Given the description of an element on the screen output the (x, y) to click on. 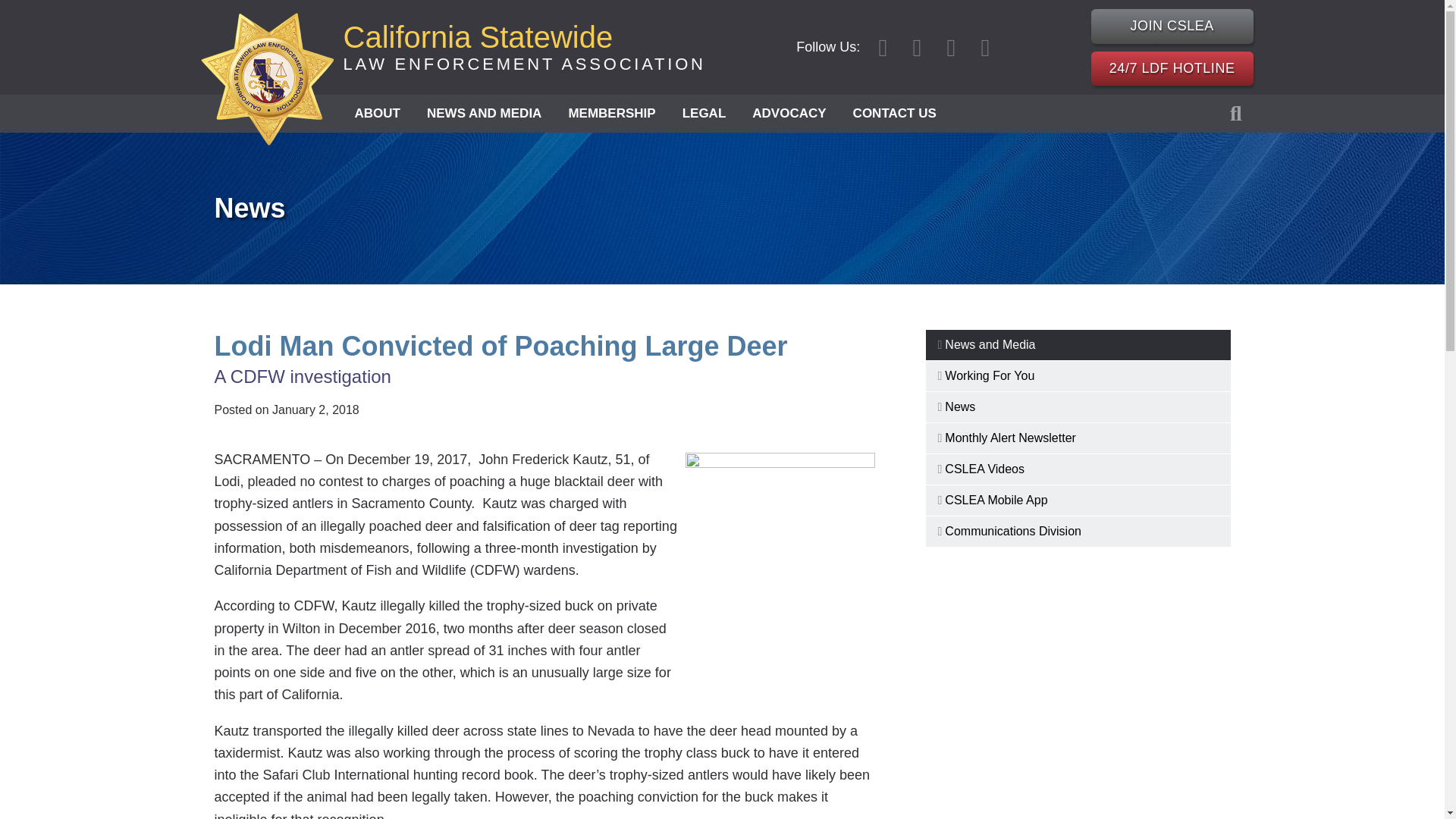
NEWS AND MEDIA (483, 113)
LEGAL (704, 113)
JOIN CSLEA (1171, 26)
MEMBERSHIP (611, 113)
ABOUT (523, 47)
